Given the description of an element on the screen output the (x, y) to click on. 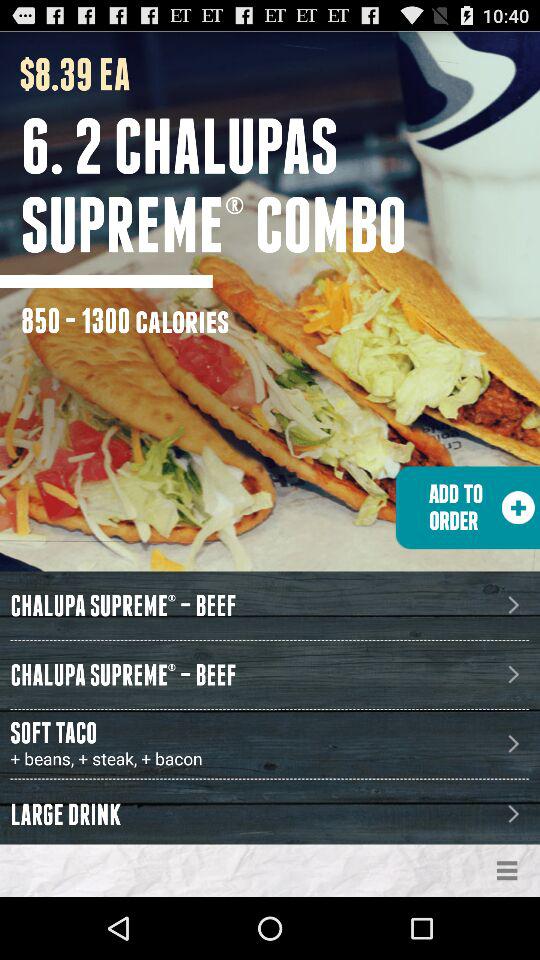
turn on $8.39 ea item (65, 74)
